Given the description of an element on the screen output the (x, y) to click on. 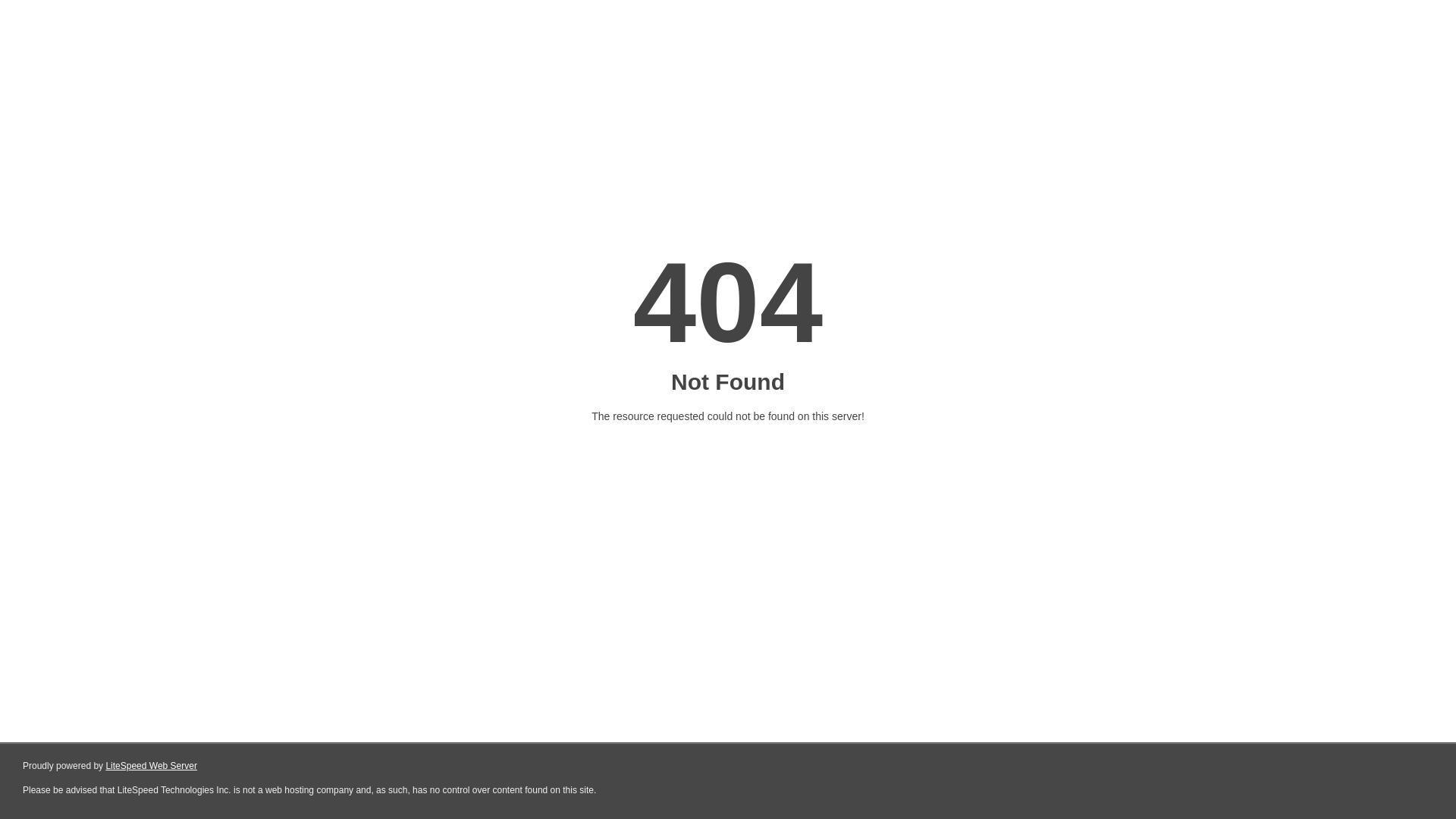
LiteSpeed Web Server Element type: text (151, 765)
